Given the description of an element on the screen output the (x, y) to click on. 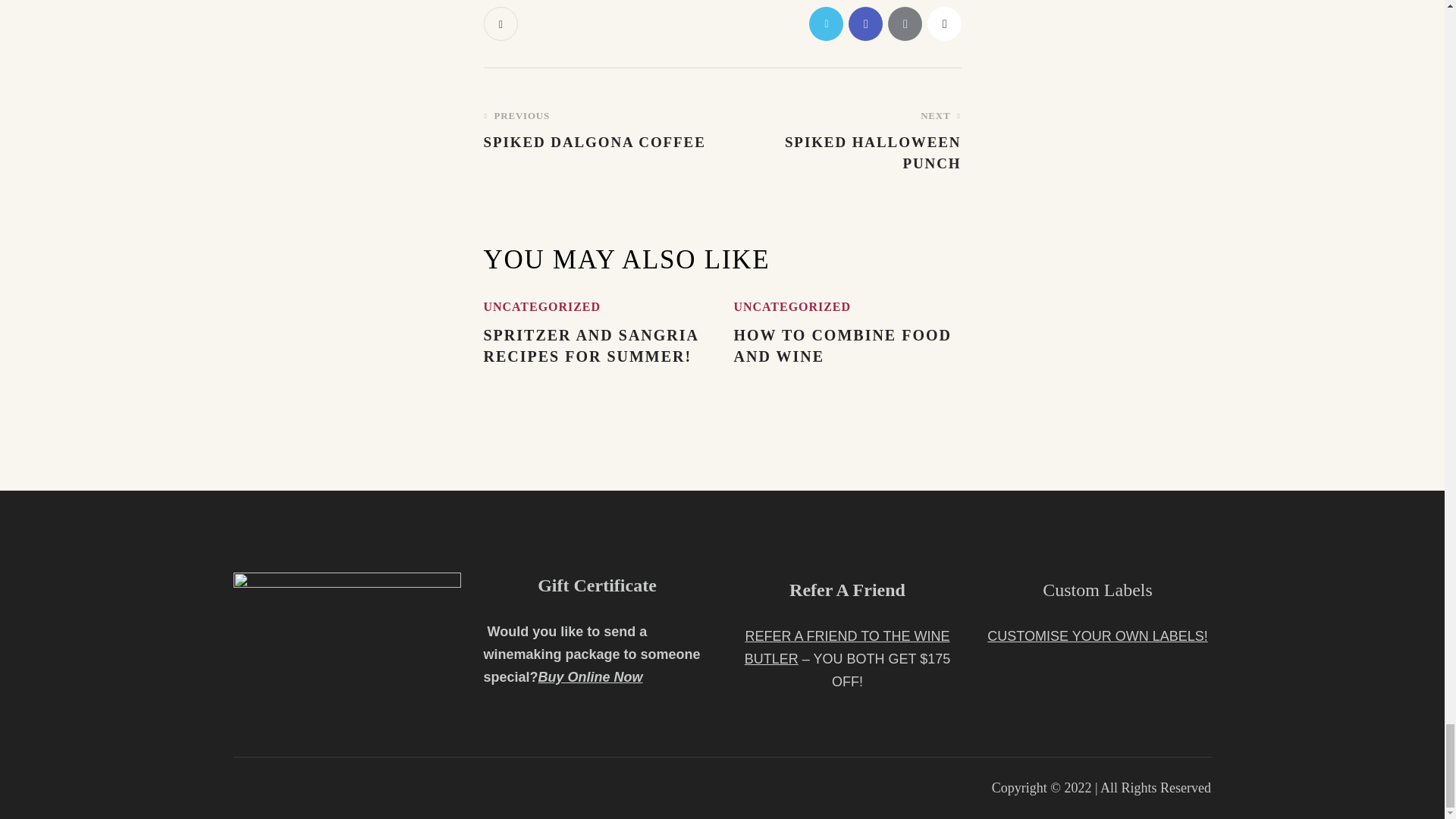
SPRITZER AND SANGRIA RECIPES FOR SUMMER! (597, 345)
UNCATEGORIZED (541, 306)
Like (502, 23)
HOW TO COMBINE FOOD AND WINE (597, 130)
Copy URL to clipboard (846, 345)
UNCATEGORIZED (943, 23)
